Given the description of an element on the screen output the (x, y) to click on. 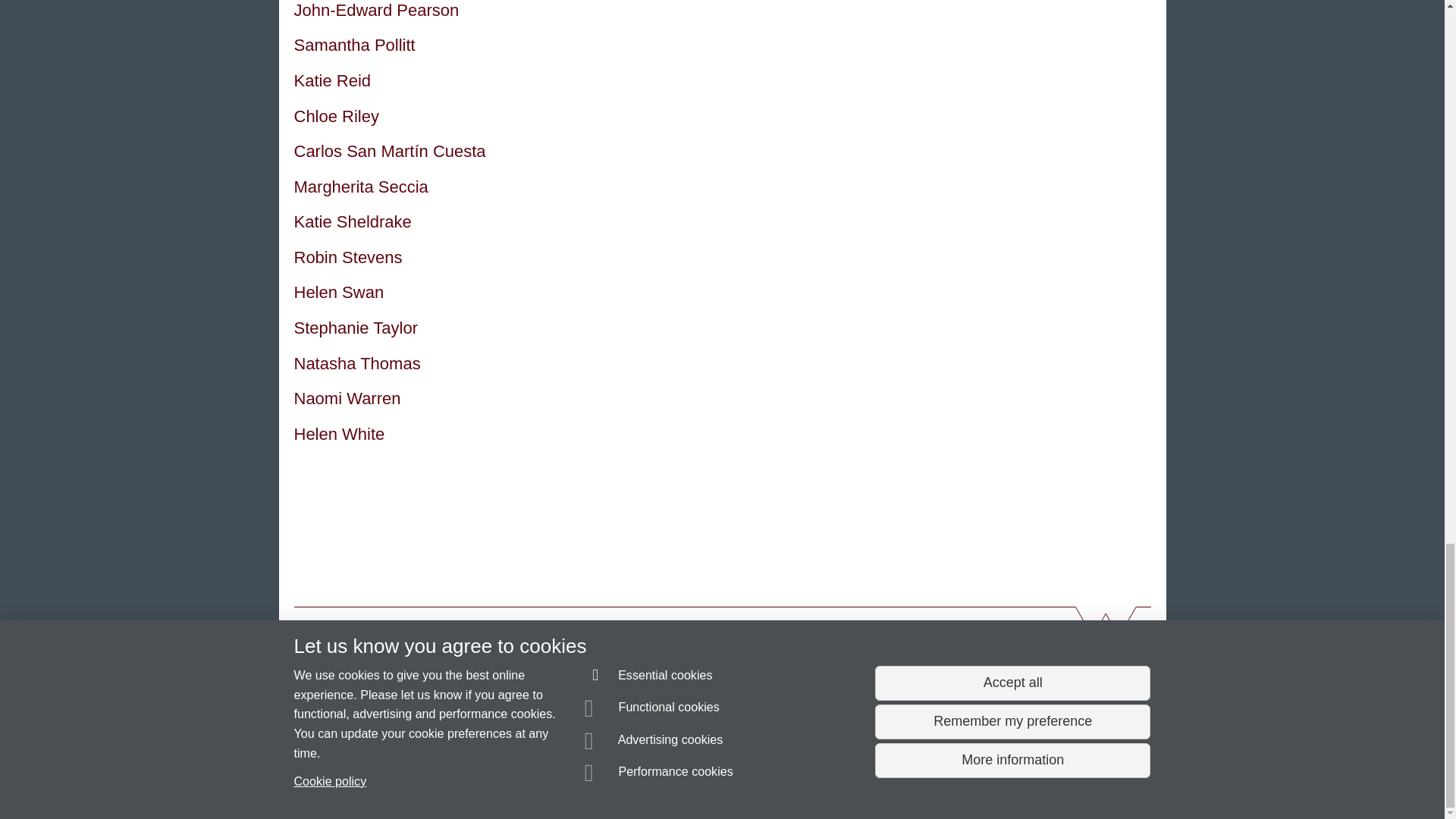
Centre for the Study of the Renaissance on Twitter (938, 660)
More information about SiteBuilder (365, 780)
Centre for the Study of the Renaissance on Facebook (895, 660)
Support the Renaissance Centre (991, 703)
Terms of use (708, 780)
Privacy notice (673, 780)
Information about cookies (467, 780)
Copyright Statement (514, 780)
